Given the description of an element on the screen output the (x, y) to click on. 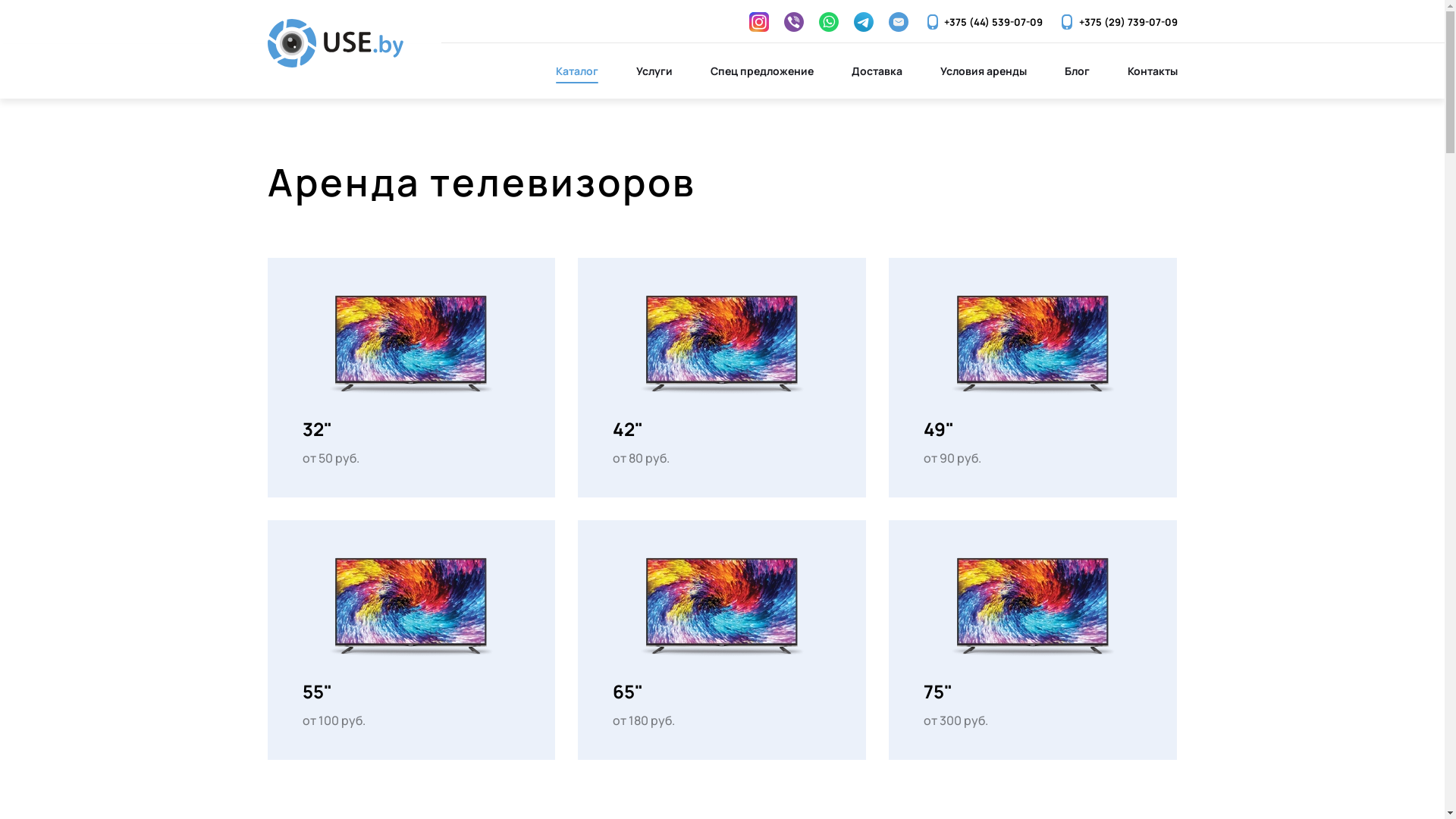
+375 (44) 539-07-09 Element type: text (982, 21)
+375 (29) 739-07-09 Element type: text (1116, 21)
